Given the description of an element on the screen output the (x, y) to click on. 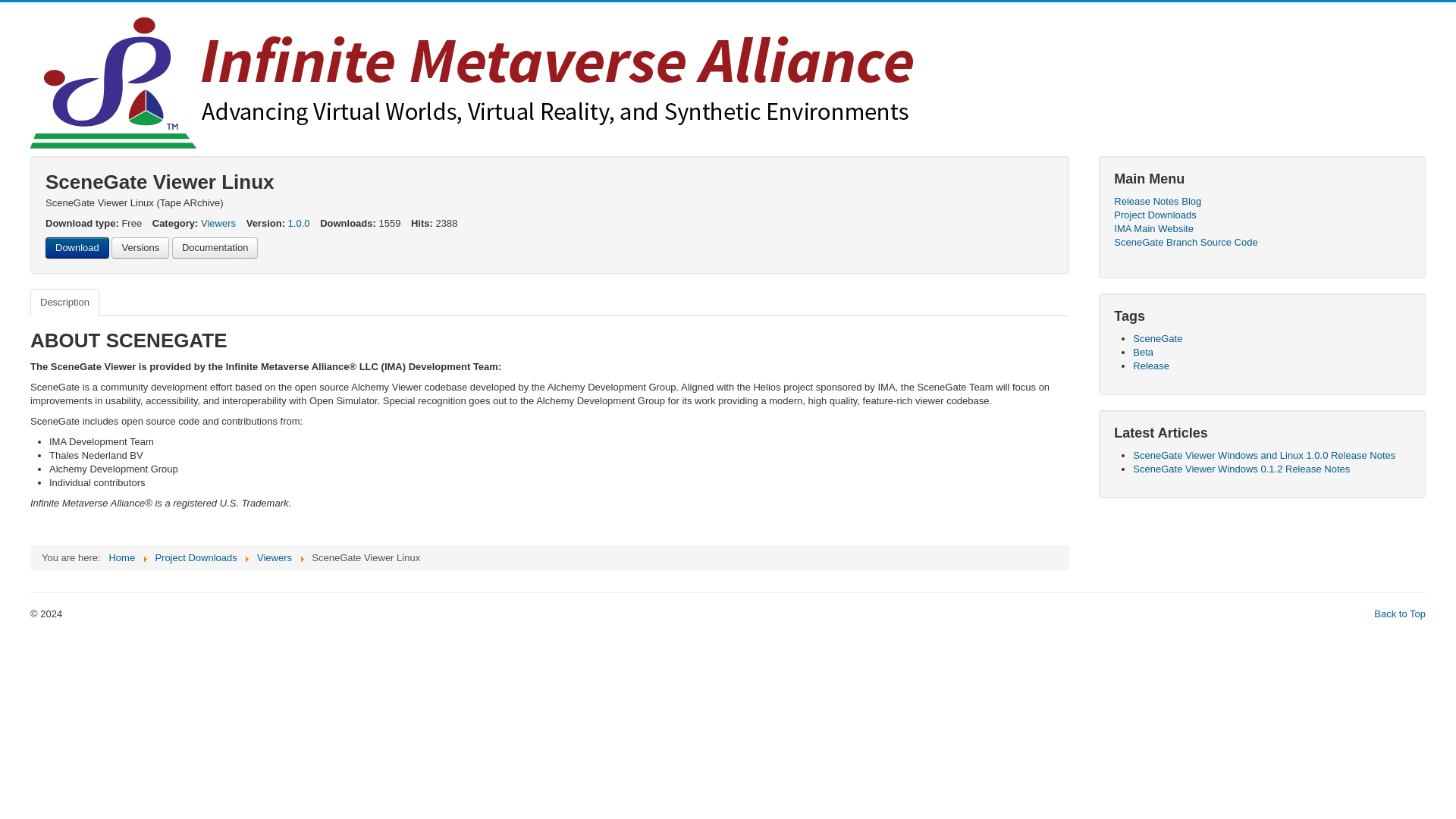
SceneGate Viewer Windows and Linux 1.0.0 Release Notes (1263, 455)
SceneGate Branch Source Code (1261, 242)
Release Notes Blog (1261, 201)
1.0.0 (299, 223)
Beta (1142, 351)
SceneGate Viewer Windows 0.1.2 Release Notes (1240, 469)
Documentation (214, 247)
SceneGate (1157, 337)
Versions (140, 247)
Project Downloads (194, 557)
Viewers (274, 557)
Viewers (217, 223)
Description (64, 302)
Project Downloads (1261, 214)
IMA Main Website (1261, 228)
